Given the description of an element on the screen output the (x, y) to click on. 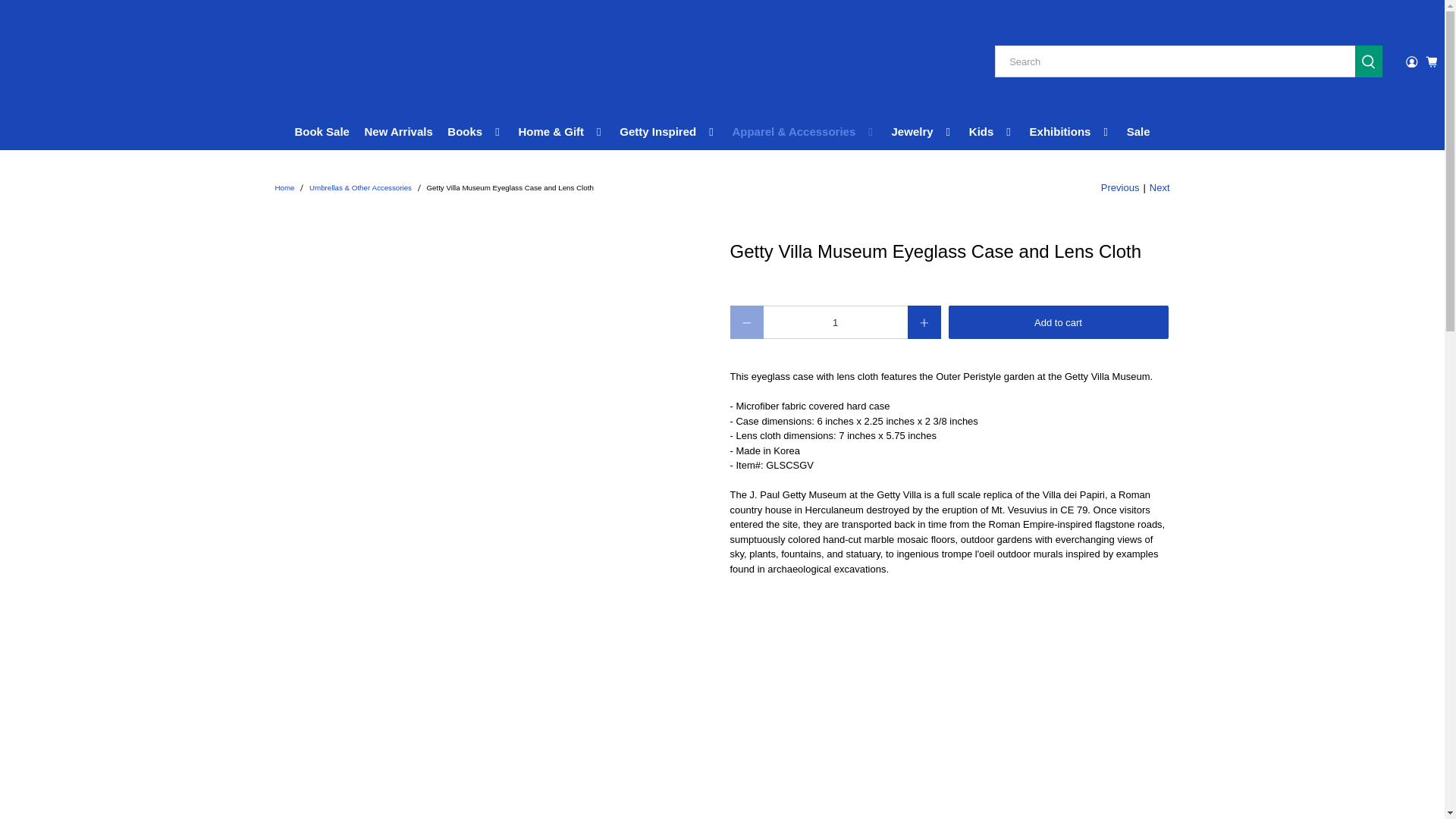
New Arrivals (398, 131)
Getty Inspired (668, 131)
Previous (1120, 187)
Getty Museum Store (284, 187)
Books (476, 131)
Book Sale (321, 131)
1 (834, 322)
Next (1160, 187)
Getty Museum Store (82, 61)
